Given the description of an element on the screen output the (x, y) to click on. 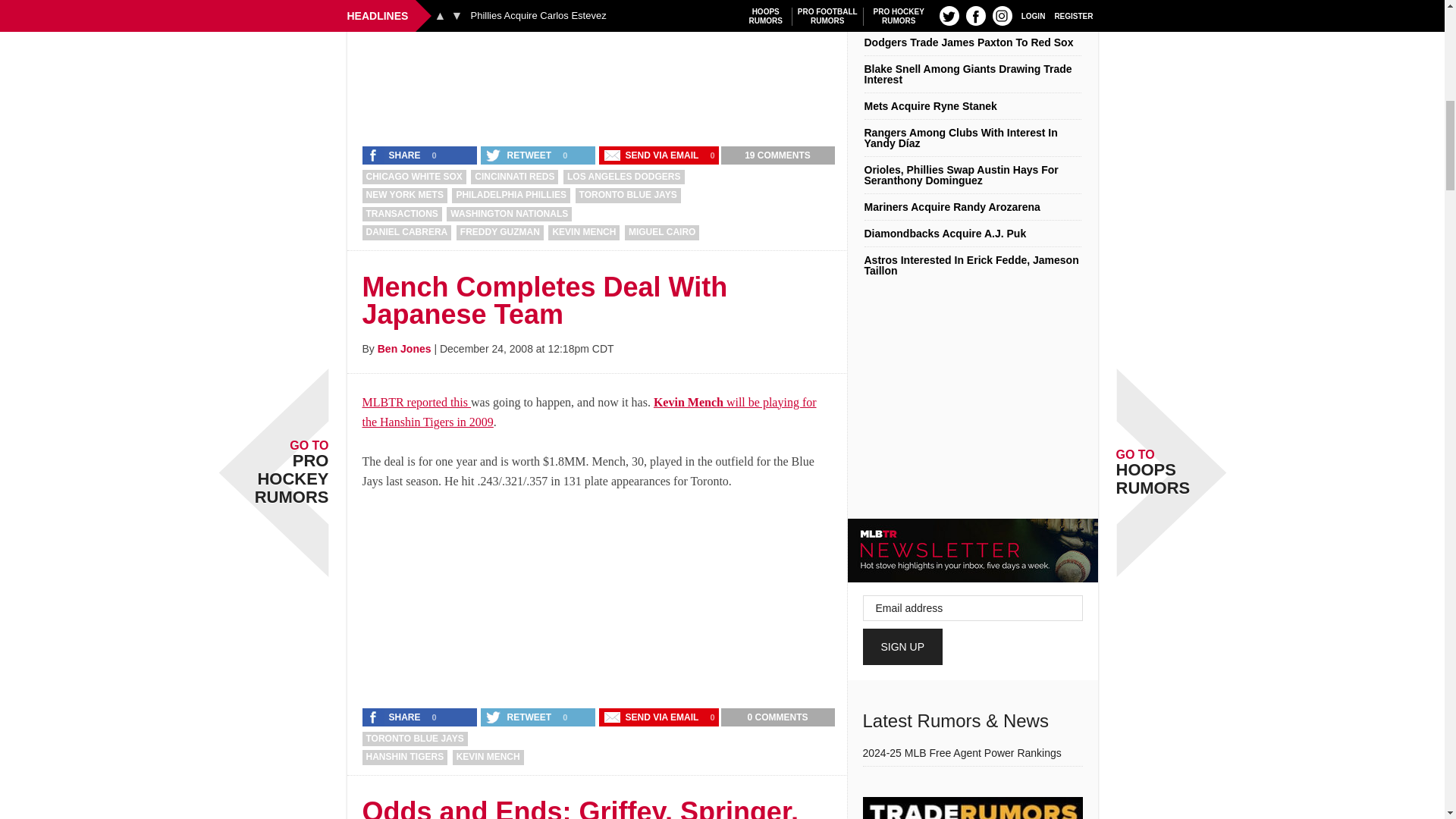
Sign Up (903, 646)
Send Mench Completes Deal With Japanese Team with an email (652, 717)
Retweet 'Mench Completes Deal With Japanese Team' on Twitter (519, 717)
Share 'Mench Completes Deal With Japanese Team' on Facebook (395, 717)
